Given the description of an element on the screen output the (x, y) to click on. 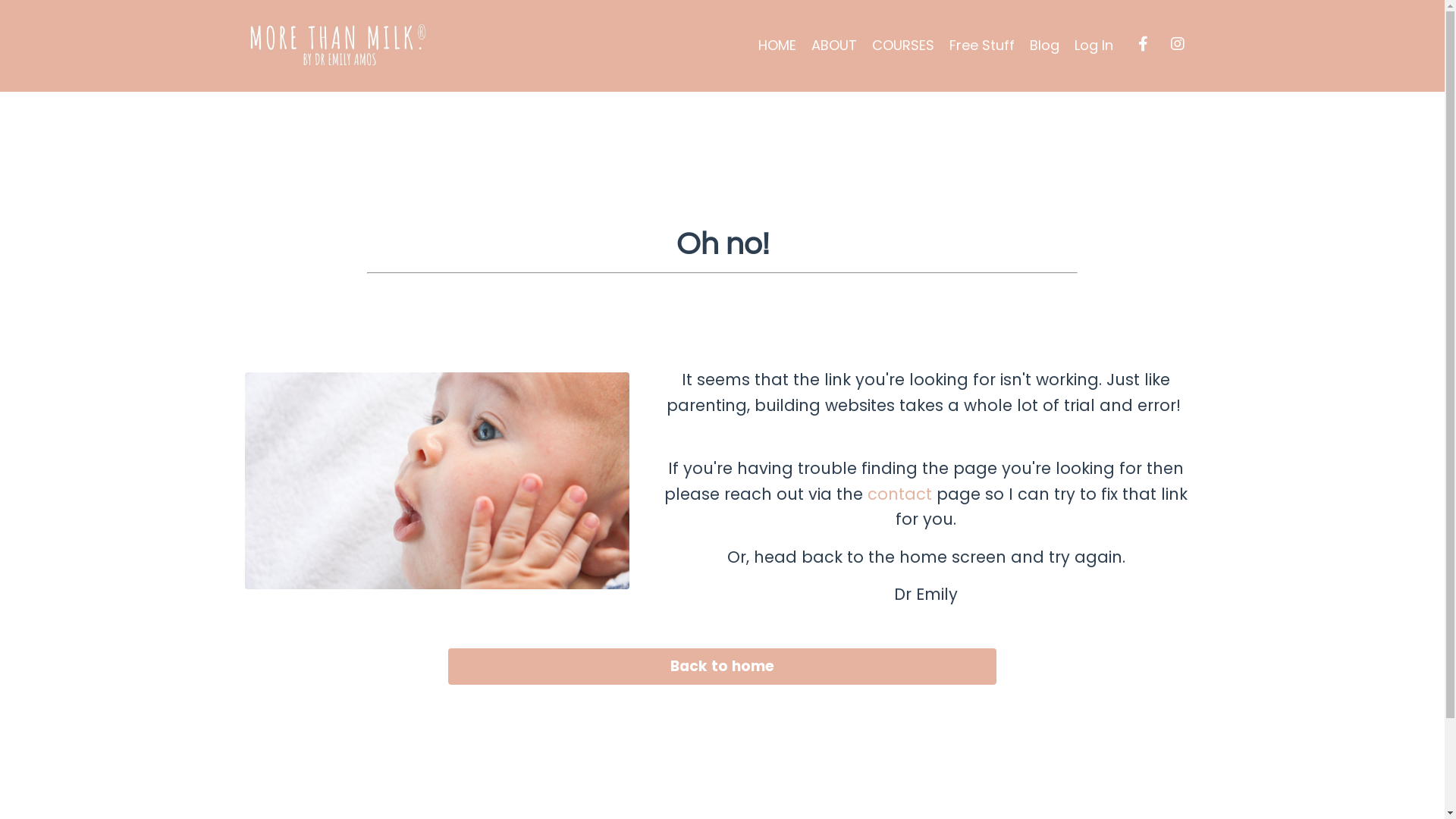
HOME Element type: text (777, 45)
Blog Element type: text (1044, 45)
Free Stuff Element type: text (981, 45)
ABOUT Element type: text (833, 45)
Back to home Element type: text (722, 666)
COURSES Element type: text (903, 45)
Log In Element type: text (1092, 44)
contact Element type: text (899, 494)
